Given the description of an element on the screen output the (x, y) to click on. 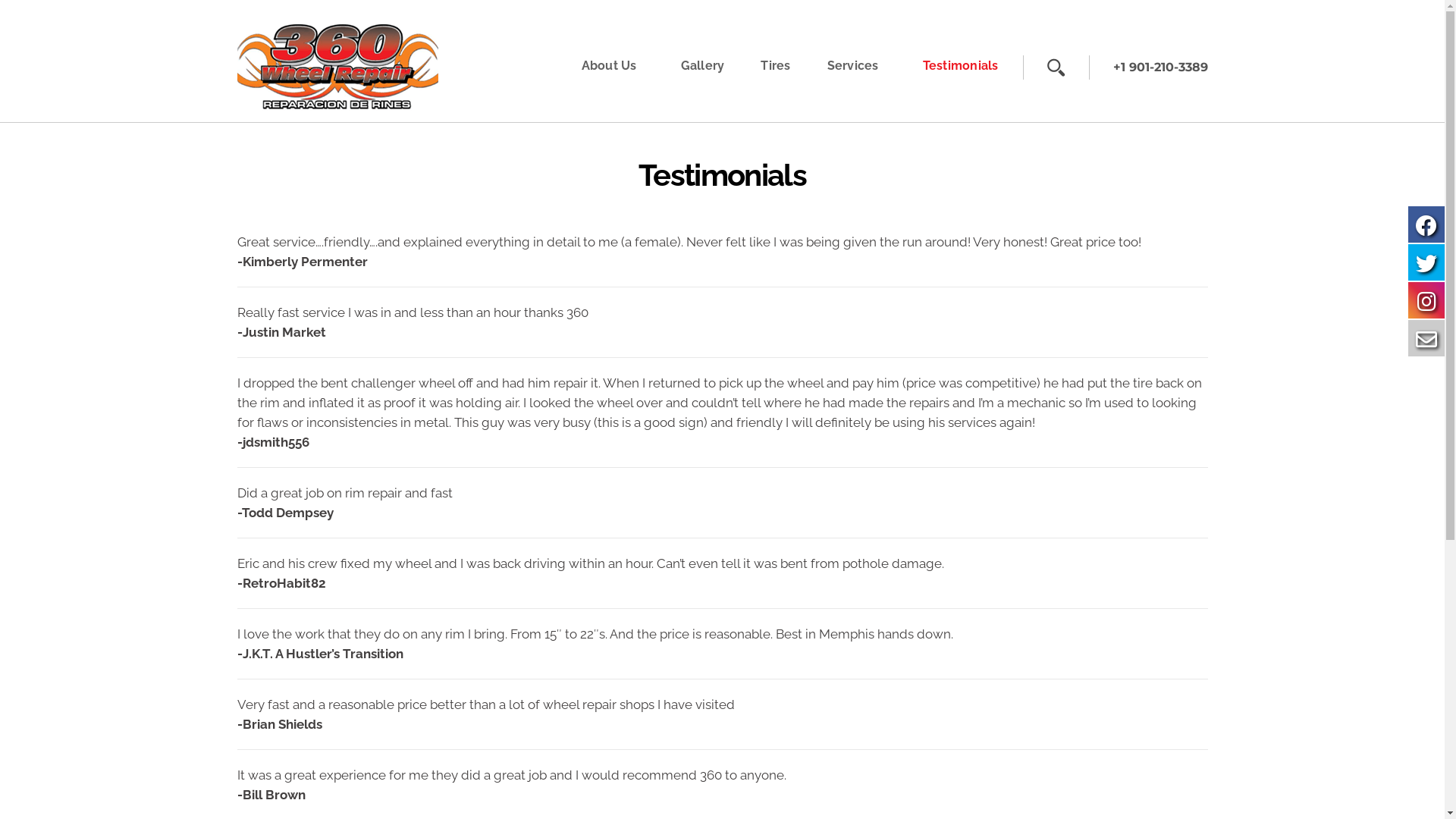
Gallery Element type: text (702, 65)
About Us Element type: text (608, 65)
Testimonials Element type: text (959, 65)
Tires Element type: text (774, 65)
+1 901-210-3389 Element type: text (1157, 66)
Services Element type: text (851, 65)
